Given the description of an element on the screen output the (x, y) to click on. 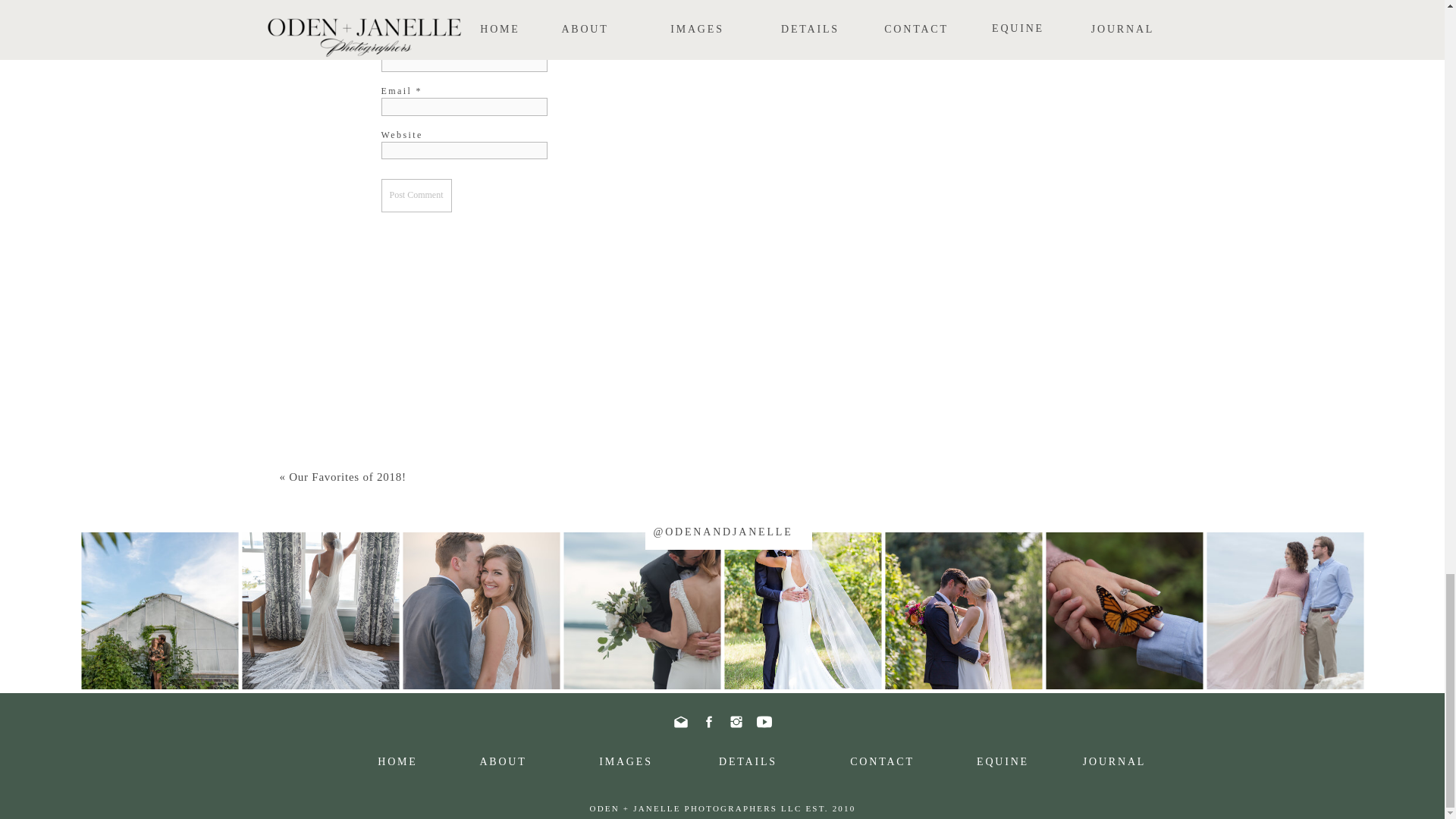
Our Favorites of 2018! (347, 476)
JOURNAL (1114, 763)
HOME (397, 763)
DETAILS (747, 763)
Post Comment (415, 195)
ABOUT (503, 763)
CONTACT (882, 763)
Post Comment (415, 195)
EQUINE (1002, 763)
IMAGES (625, 763)
